Given the description of an element on the screen output the (x, y) to click on. 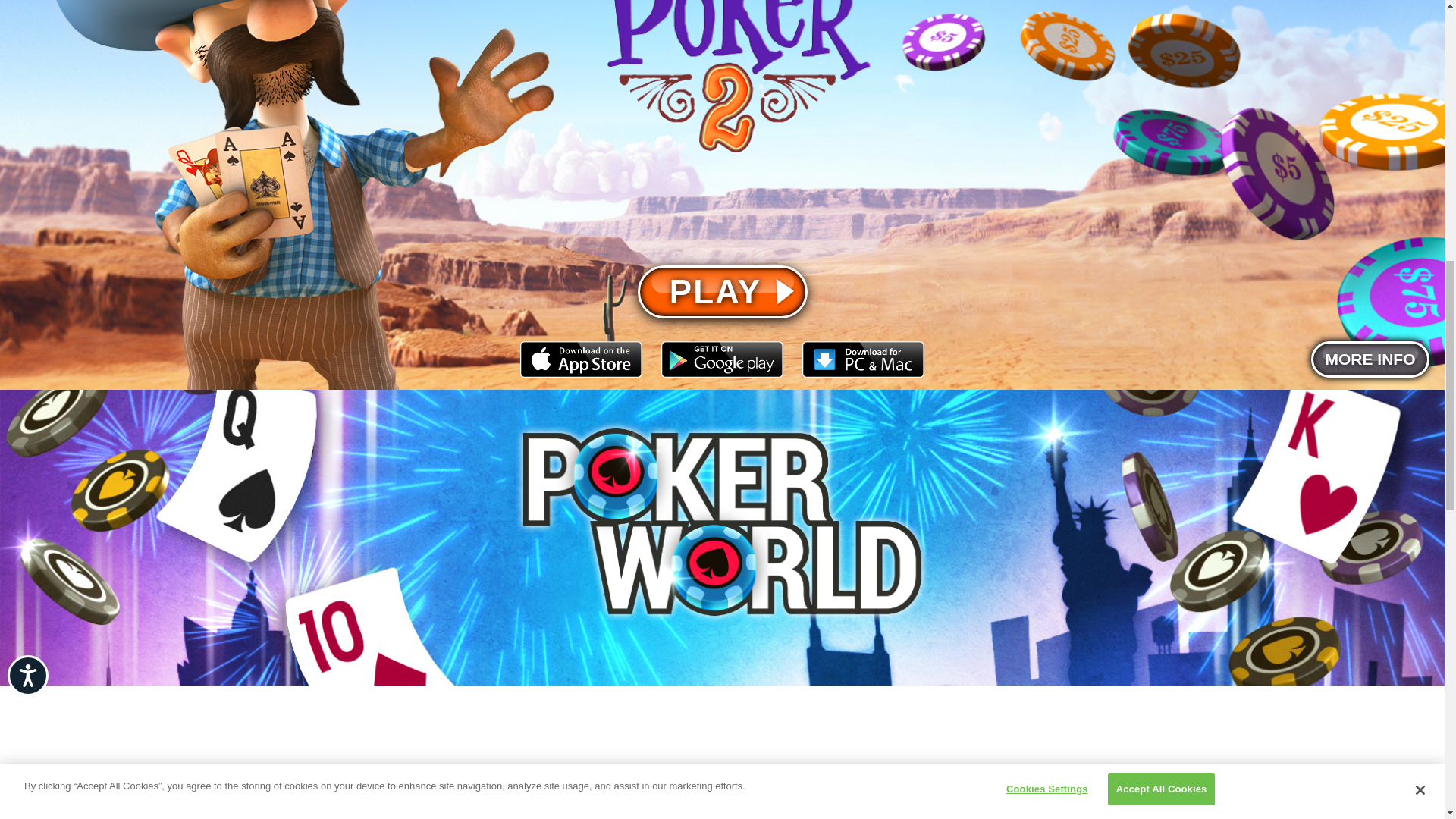
iTunes Apple Store (580, 361)
PLAY (721, 291)
More Info (1370, 359)
Play (721, 291)
MORE INFO (1370, 359)
